Given the description of an element on the screen output the (x, y) to click on. 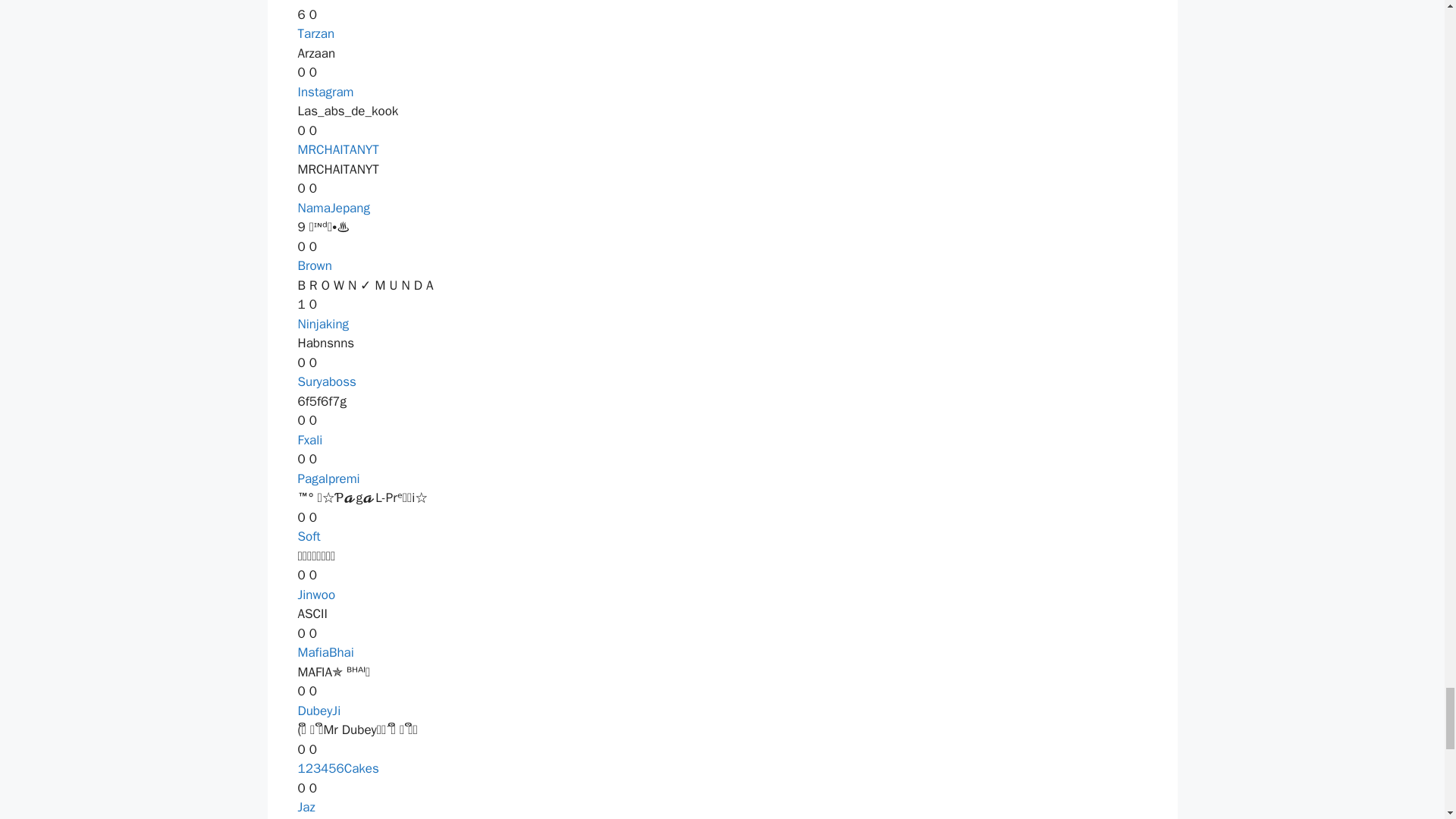
NamaJepang (333, 207)
Fxali (309, 439)
Brown (314, 265)
Jinwoo (315, 594)
Tarzan (315, 33)
Suryaboss (326, 381)
Instagram (325, 91)
Ninjaking (323, 324)
Soft (308, 536)
Pagalpremi (328, 478)
